Given the description of an element on the screen output the (x, y) to click on. 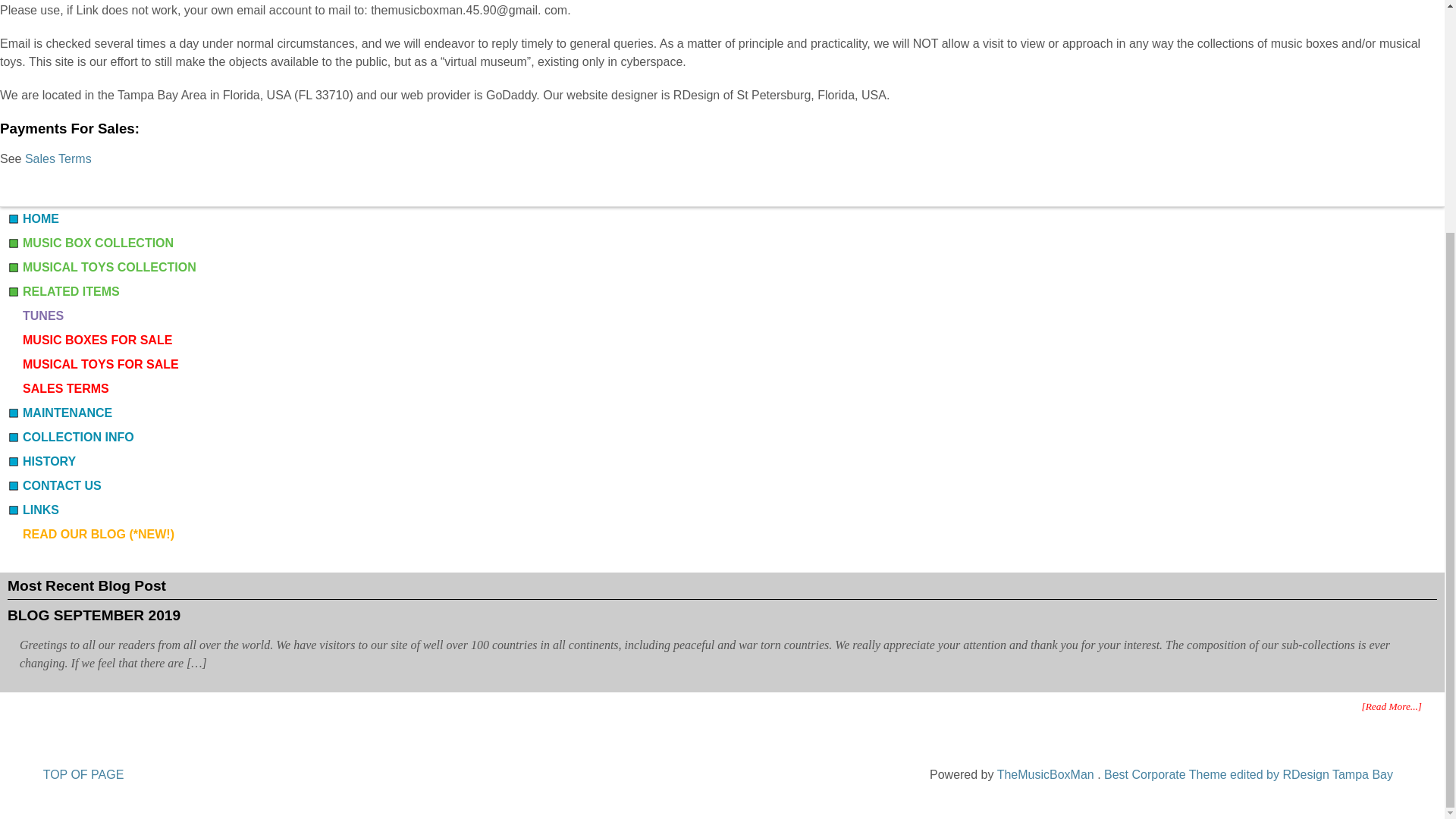
TOP OF PAGE (83, 774)
TUNES (35, 315)
Best Corporate Theme edited by RDesign Tampa Bay (1248, 774)
MUSIC BOXES FOR SALE (89, 339)
CONTACT US (54, 485)
Best Corporate Theme (1248, 774)
TheMusicBoxMan (1047, 774)
HISTORY (41, 461)
RELATED ITEMS (63, 291)
MUSIC BOX COLLECTION (90, 242)
